Given the description of an element on the screen output the (x, y) to click on. 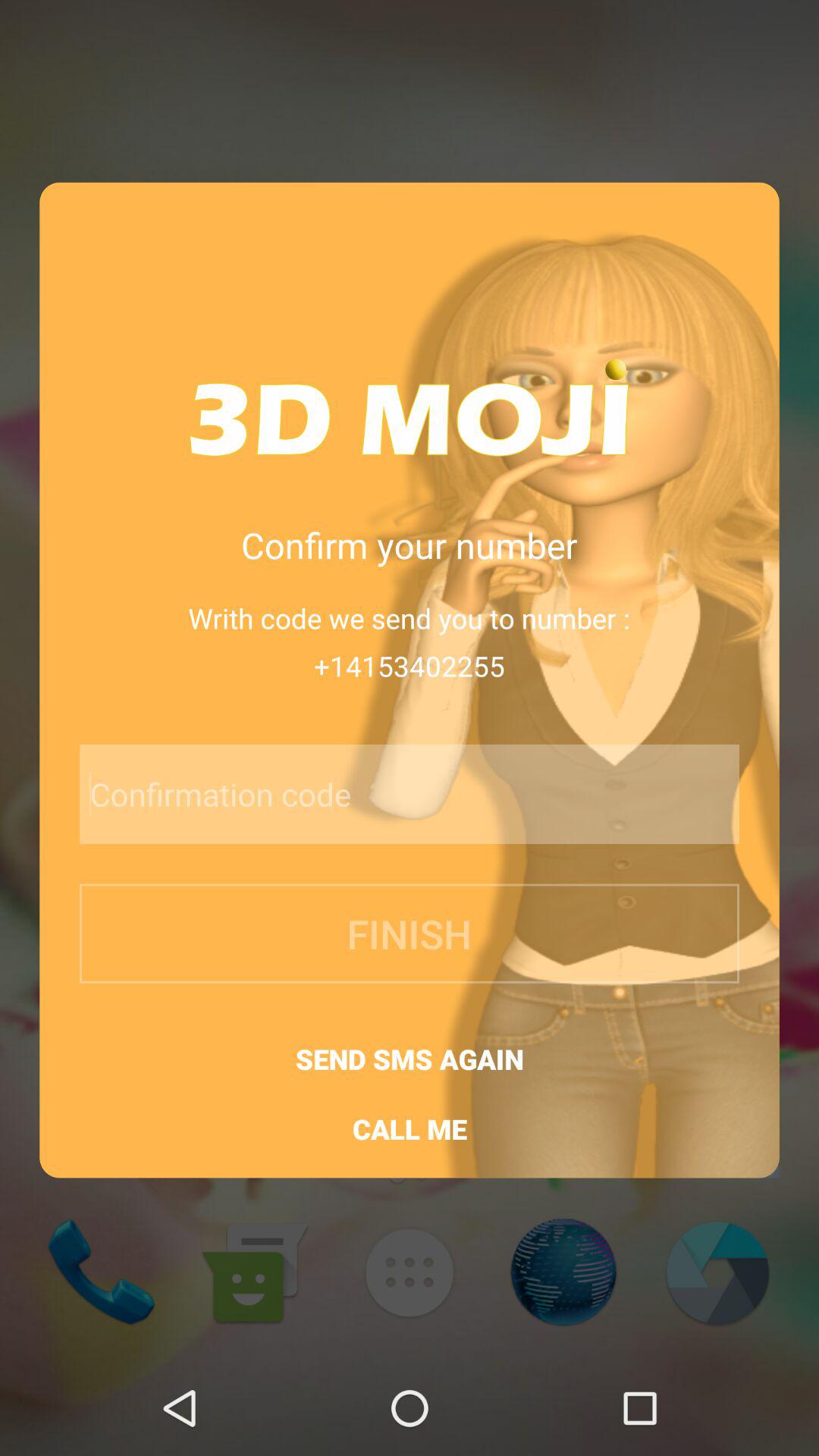
launch item above finish button (369, 794)
